Given the description of an element on the screen output the (x, y) to click on. 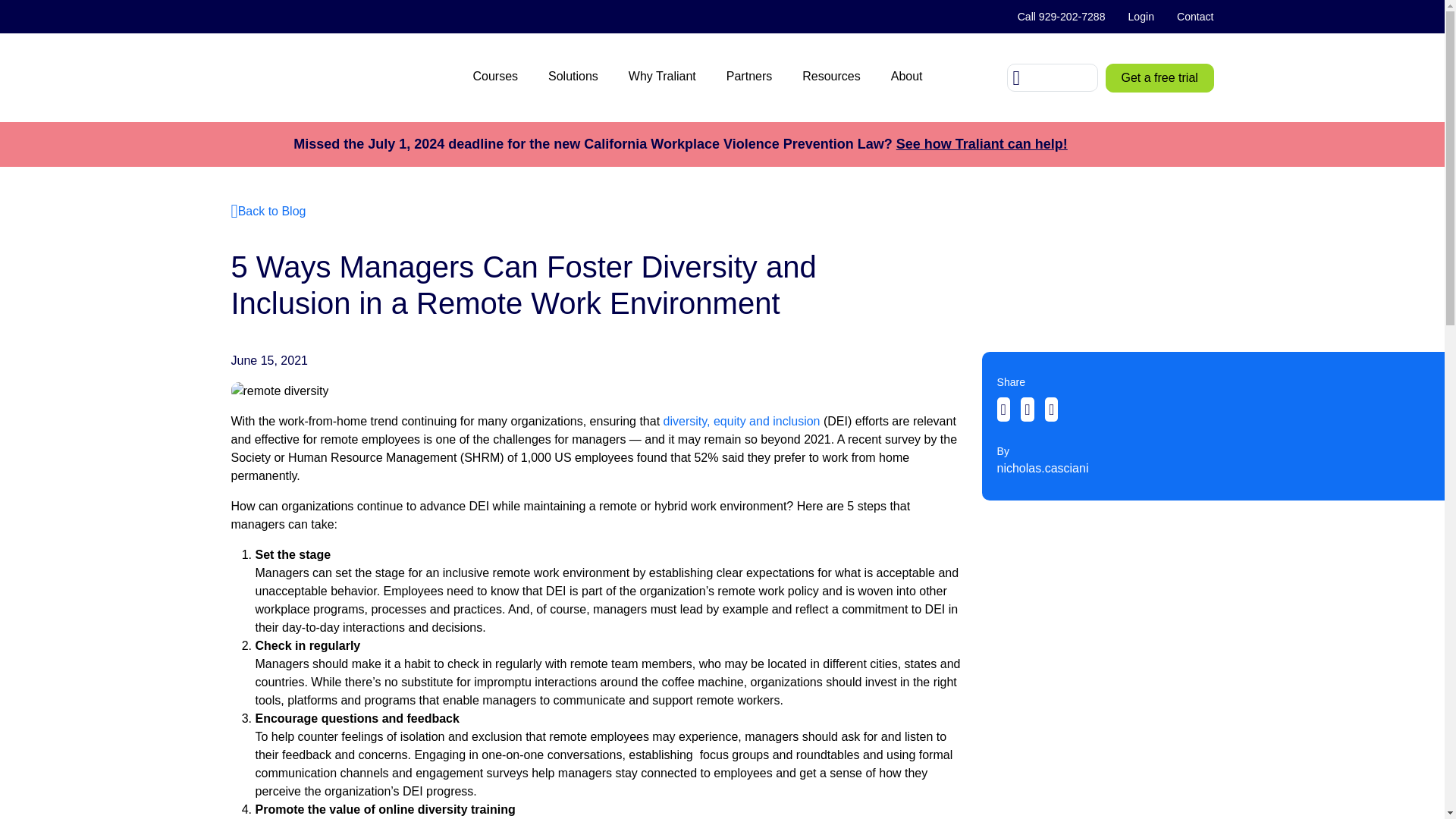
Contact (1190, 16)
Call 929-202-7288 (1061, 16)
Courses (494, 77)
Login (1141, 16)
